Given the description of an element on the screen output the (x, y) to click on. 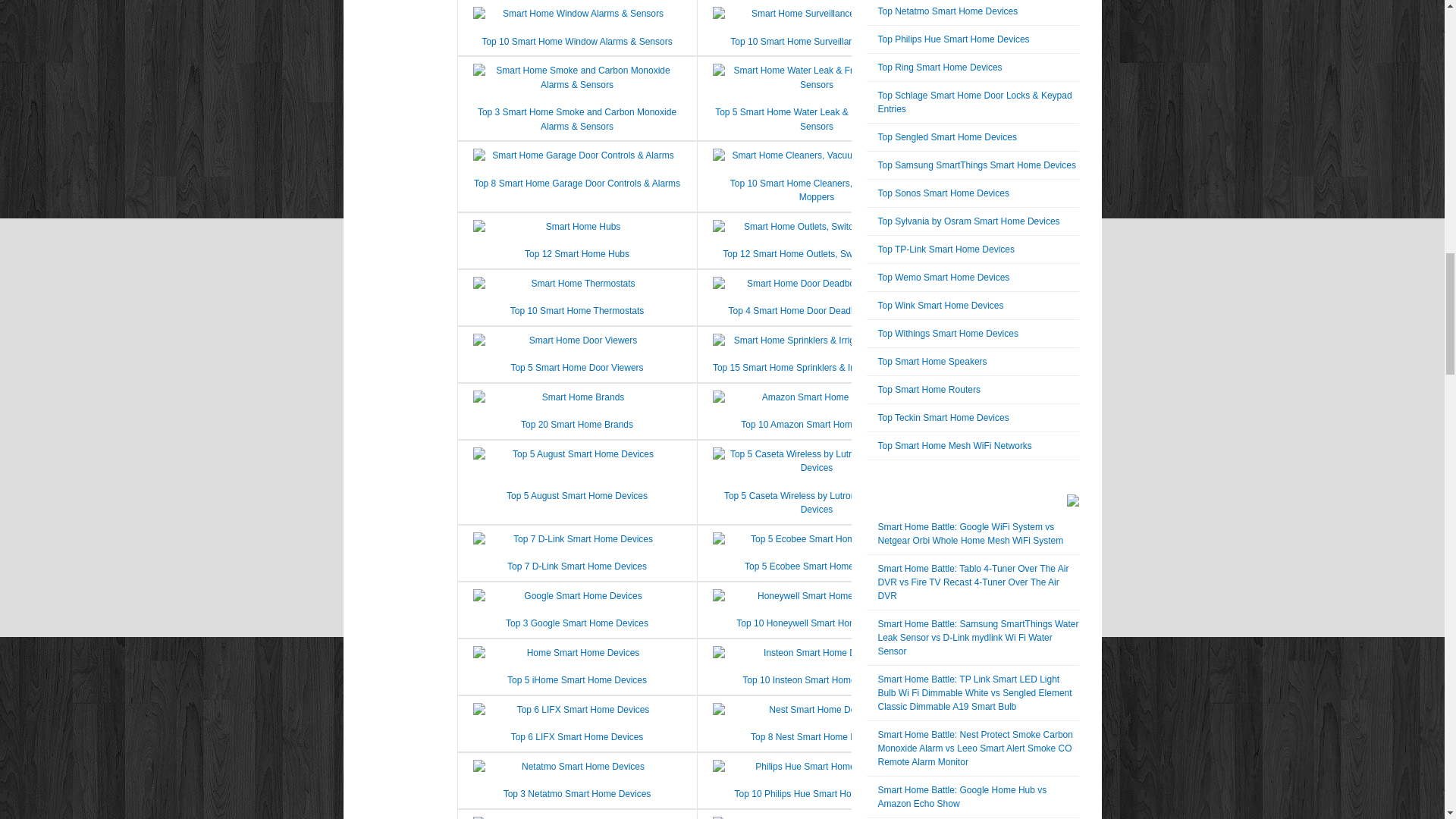
Top 12 Smart Home Hubs (576, 253)
Top 10 Smart Home Thermostats (578, 310)
Top 10 Smart Home Surveillance Cameras (816, 41)
